Given the description of an element on the screen output the (x, y) to click on. 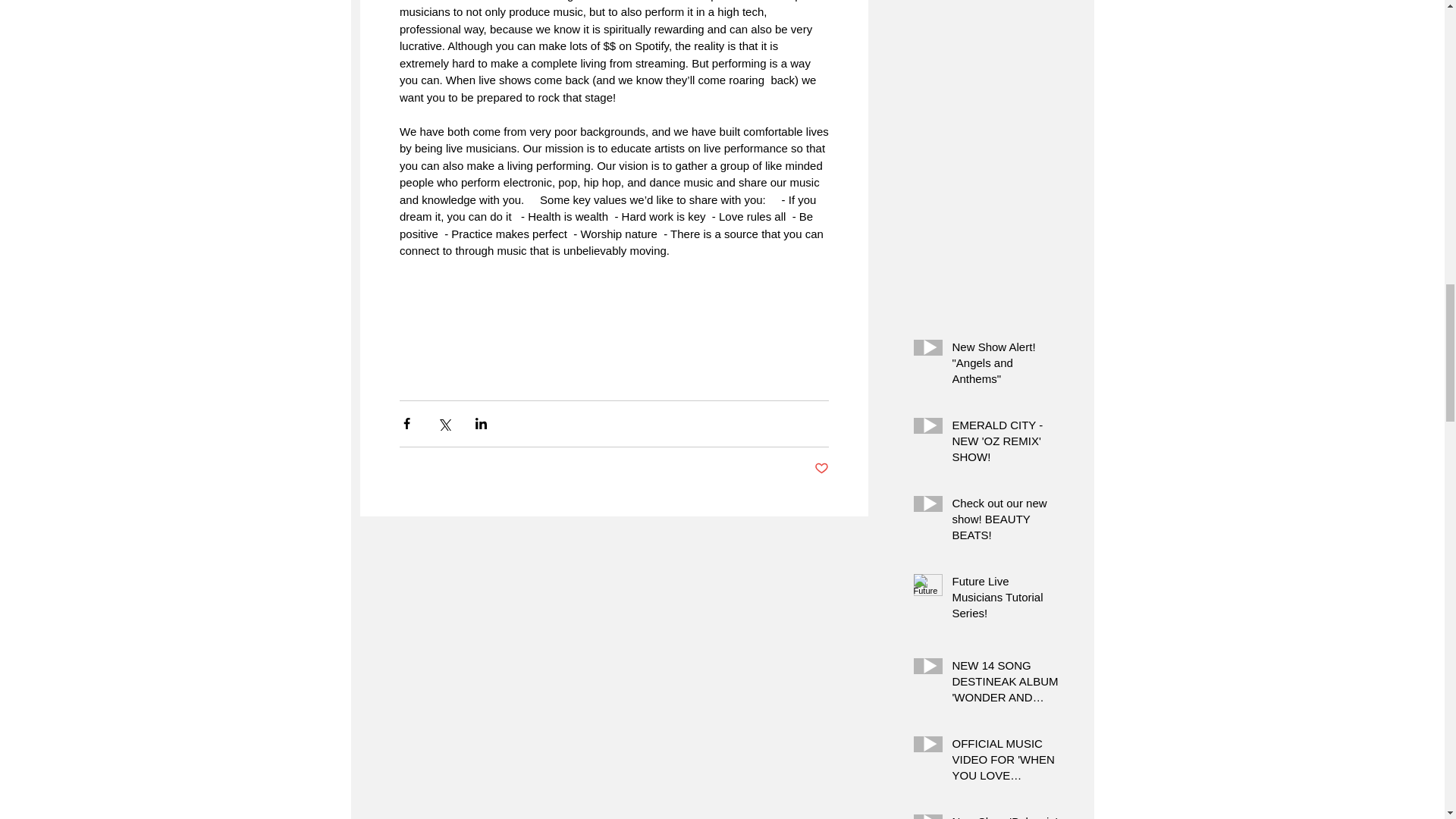
EMERALD CITY - NEW 'OZ REMIX' SHOW! (1006, 443)
New Show Alert! "Angels and Anthems" (1006, 365)
Post not marked as liked (820, 468)
